Given the description of an element on the screen output the (x, y) to click on. 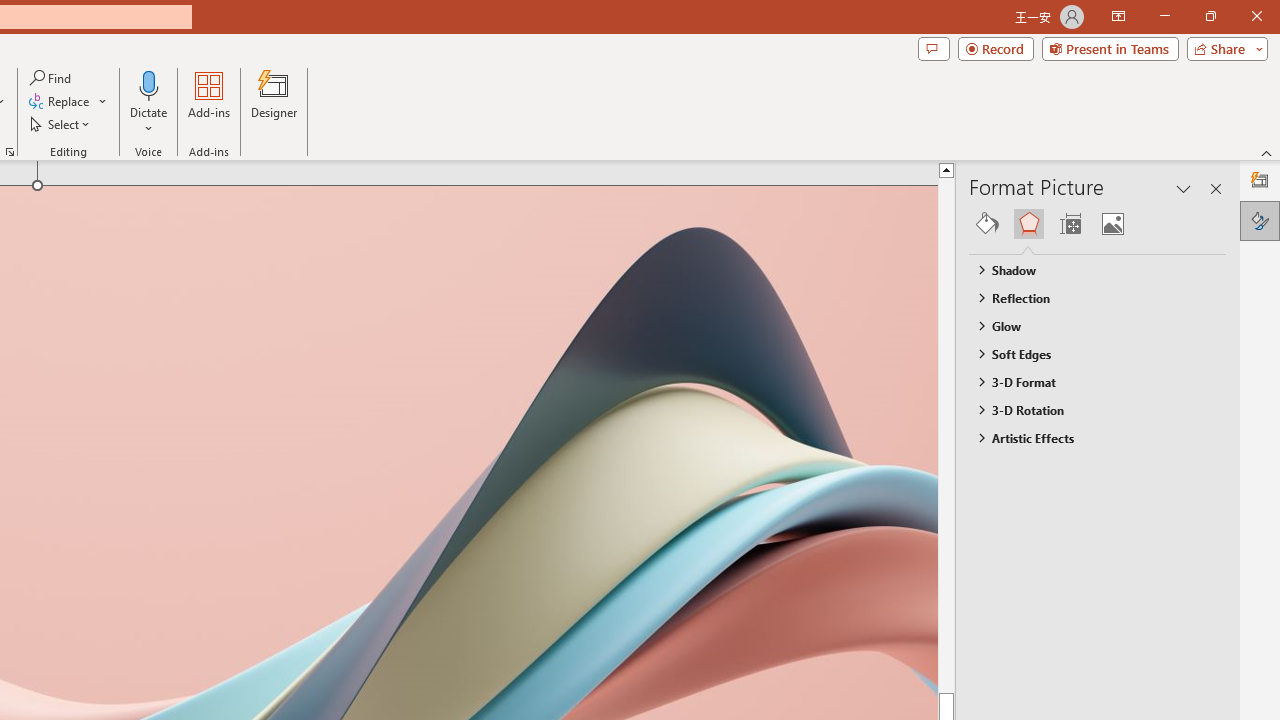
Class: NetUIGalleryContainer (1098, 223)
Effects (1028, 223)
Reflection (1088, 297)
